Given the description of an element on the screen output the (x, y) to click on. 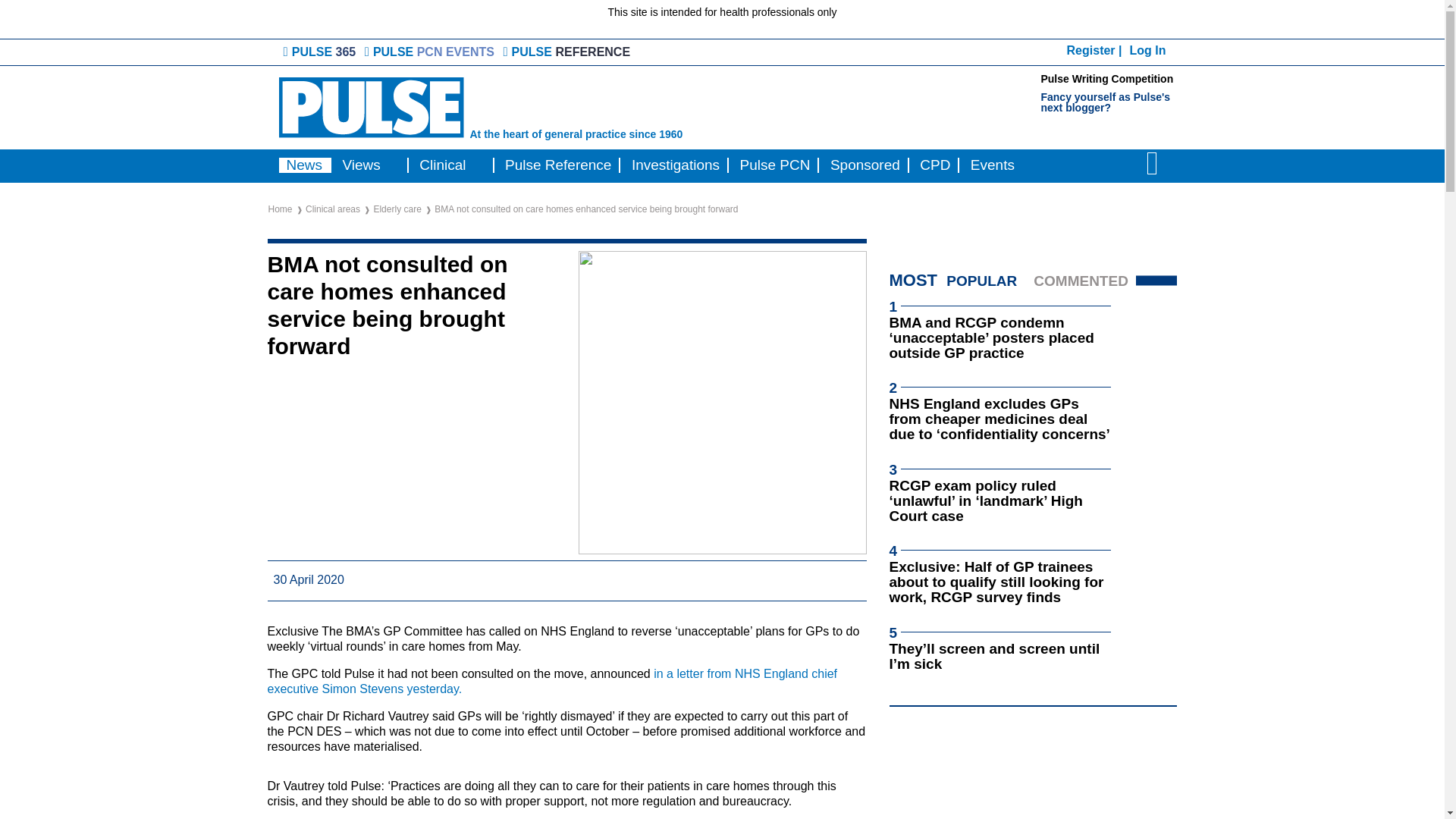
Views (360, 165)
CPD (935, 165)
Events (992, 165)
Sponsored (864, 165)
PULSE REFERENCE (568, 51)
Log In (1147, 50)
Investigations (675, 165)
At the heart of general practice since 1960 (564, 107)
